Given the description of an element on the screen output the (x, y) to click on. 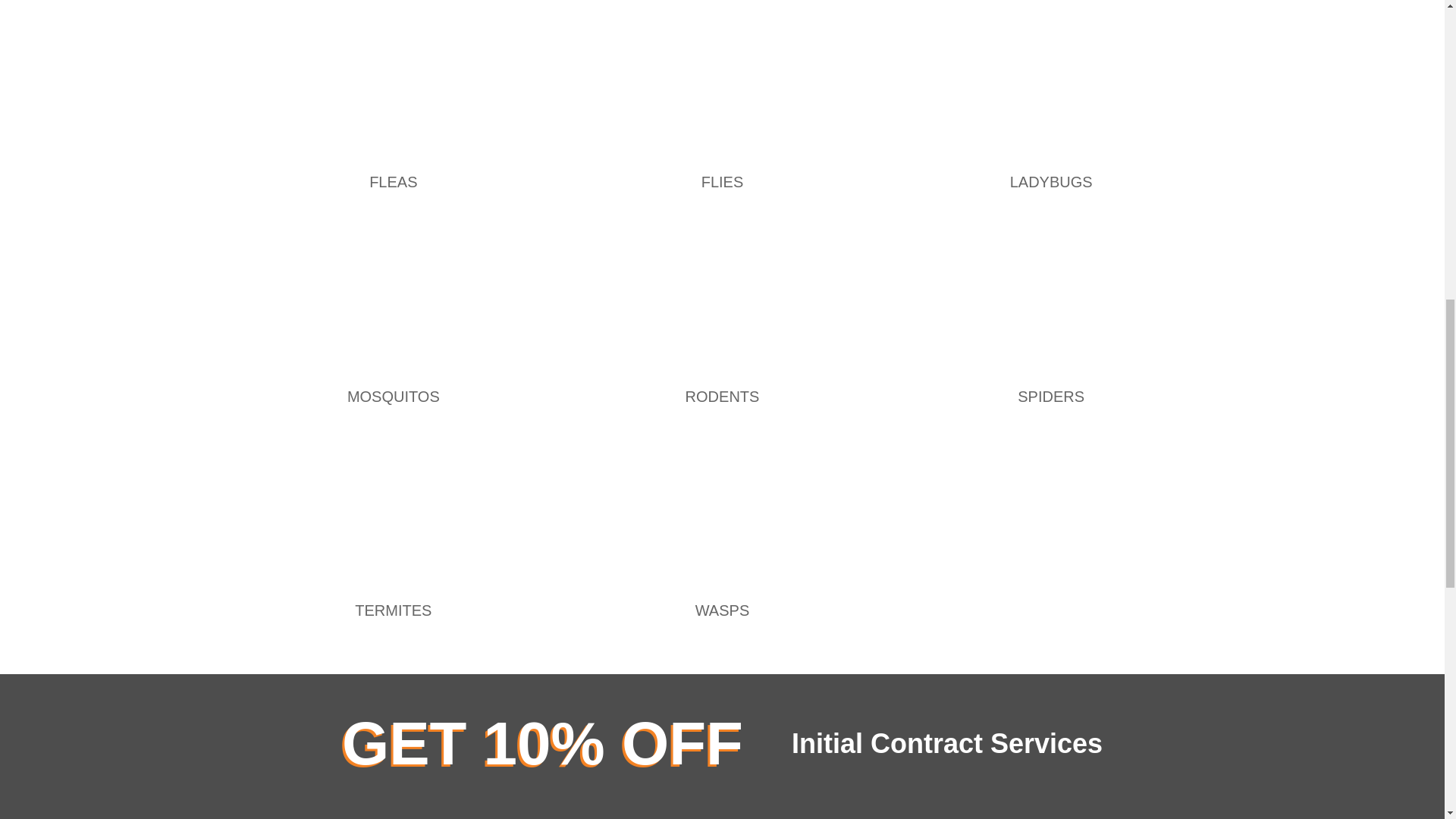
LADYBUGS (1051, 181)
MOSQUITOS (393, 396)
FLEAS (392, 181)
FLIES (722, 181)
